Given the description of an element on the screen output the (x, y) to click on. 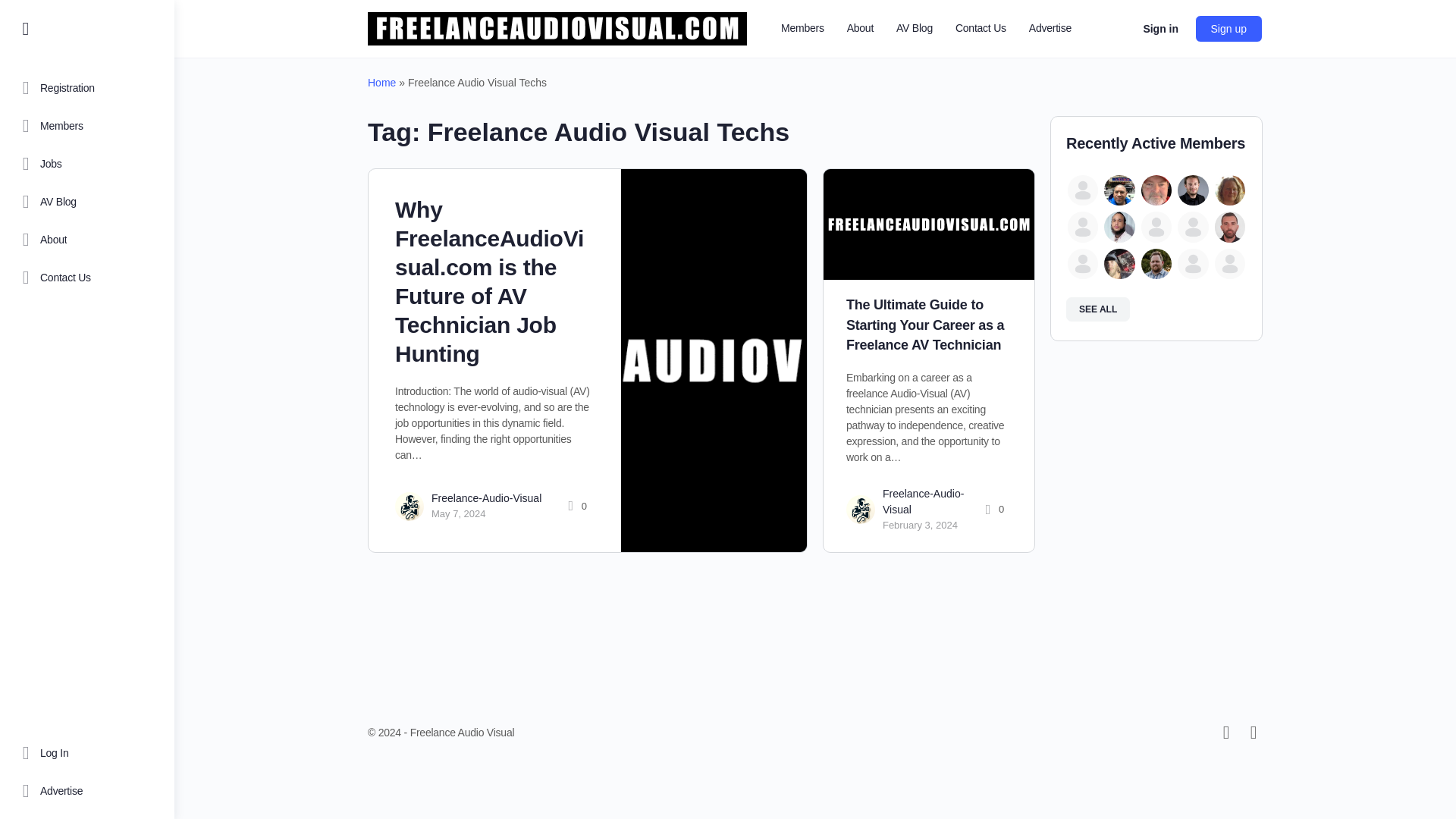
Registration (87, 87)
Sign in (1161, 28)
0 (575, 506)
Contact Us (980, 28)
Members (802, 28)
Sign up (1228, 28)
AV Blog (914, 28)
Freelance-Audio-Visual (485, 498)
Home (382, 82)
May 7, 2024 (458, 513)
Advertise (87, 790)
Members (87, 125)
AV Blog (87, 201)
About (87, 239)
Jobs (87, 163)
